Given the description of an element on the screen output the (x, y) to click on. 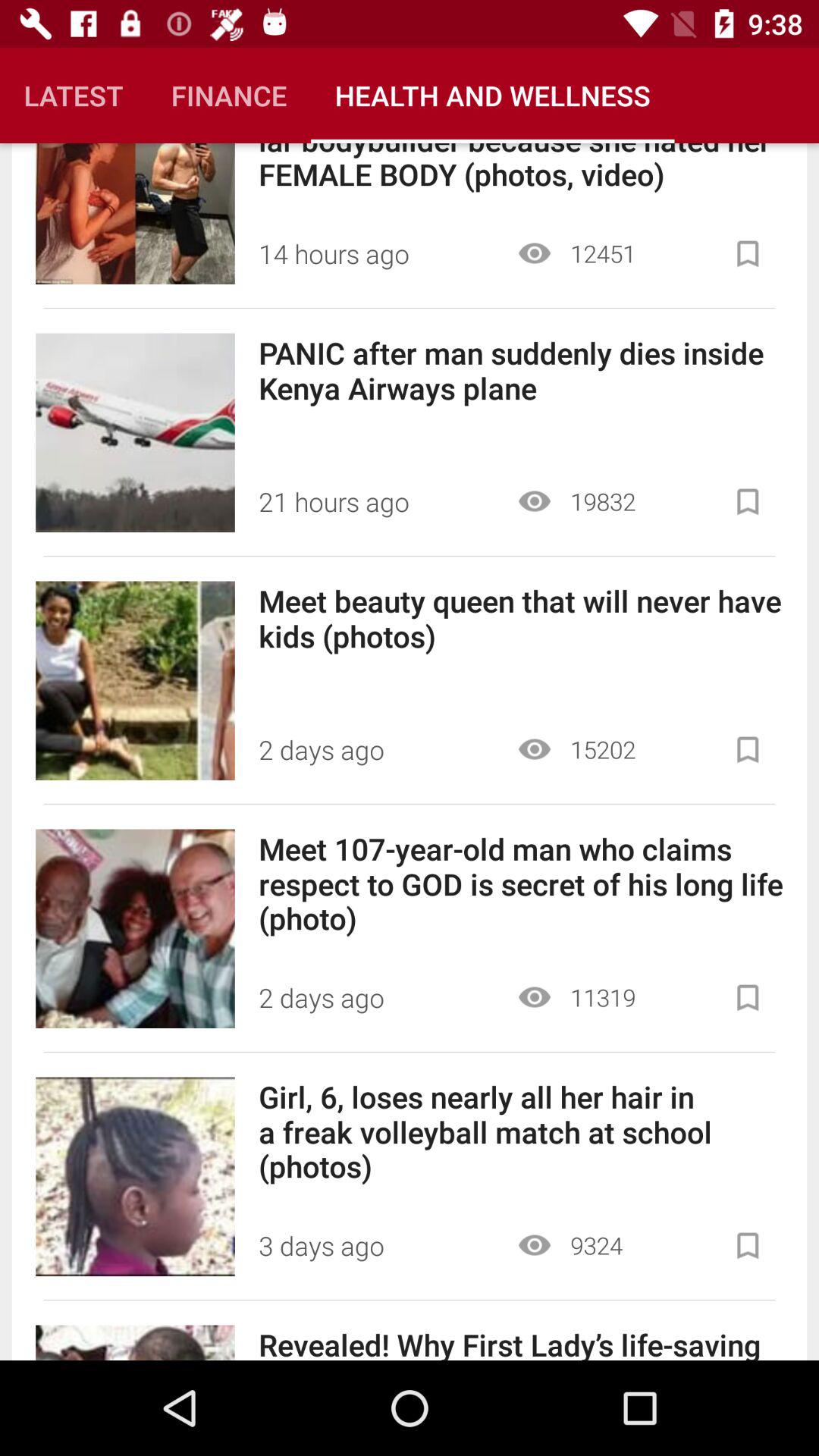
bookmark/save the article (747, 997)
